Given the description of an element on the screen output the (x, y) to click on. 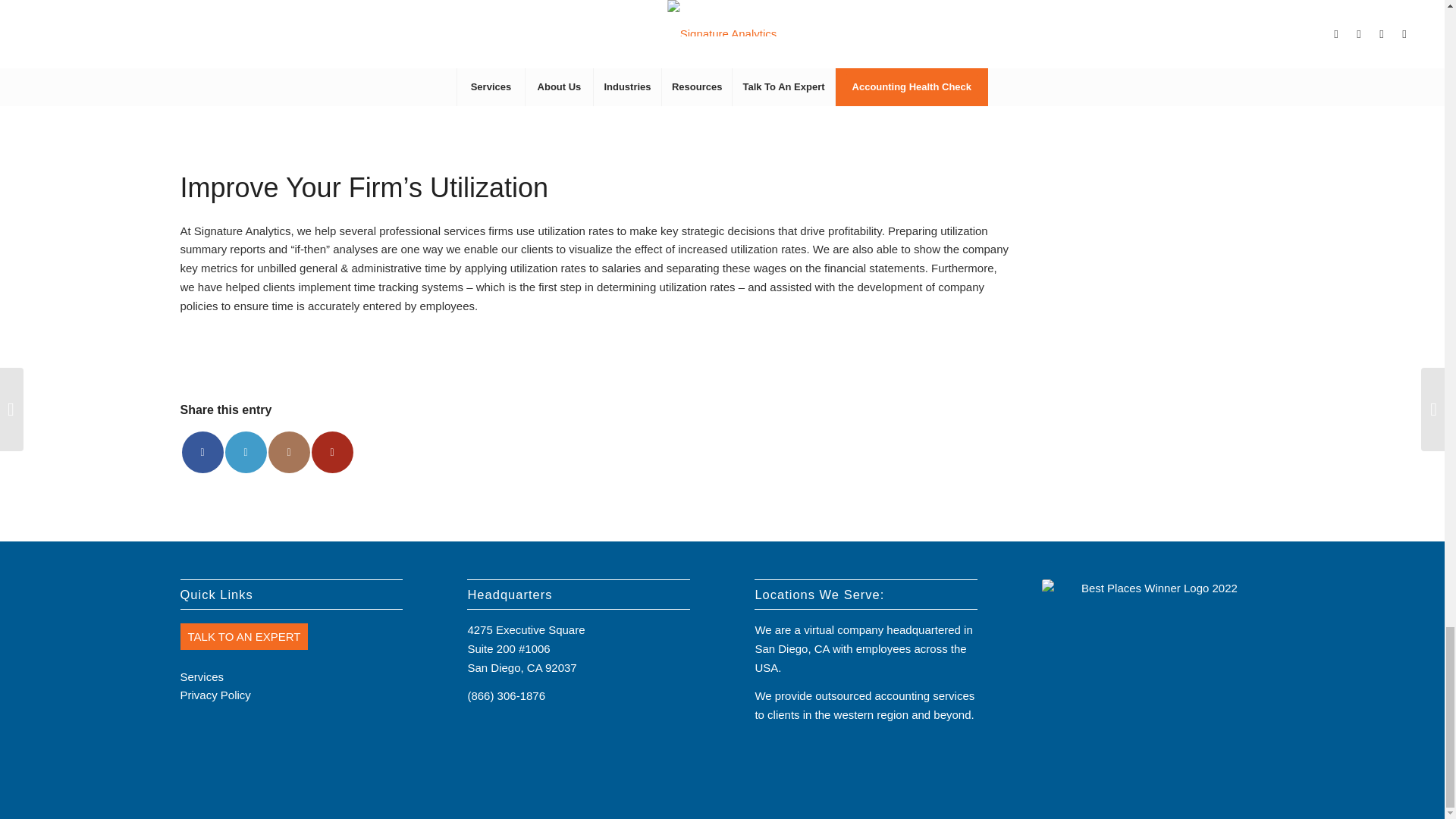
Best Places Winner Logo 2022 (1152, 680)
